Given the description of an element on the screen output the (x, y) to click on. 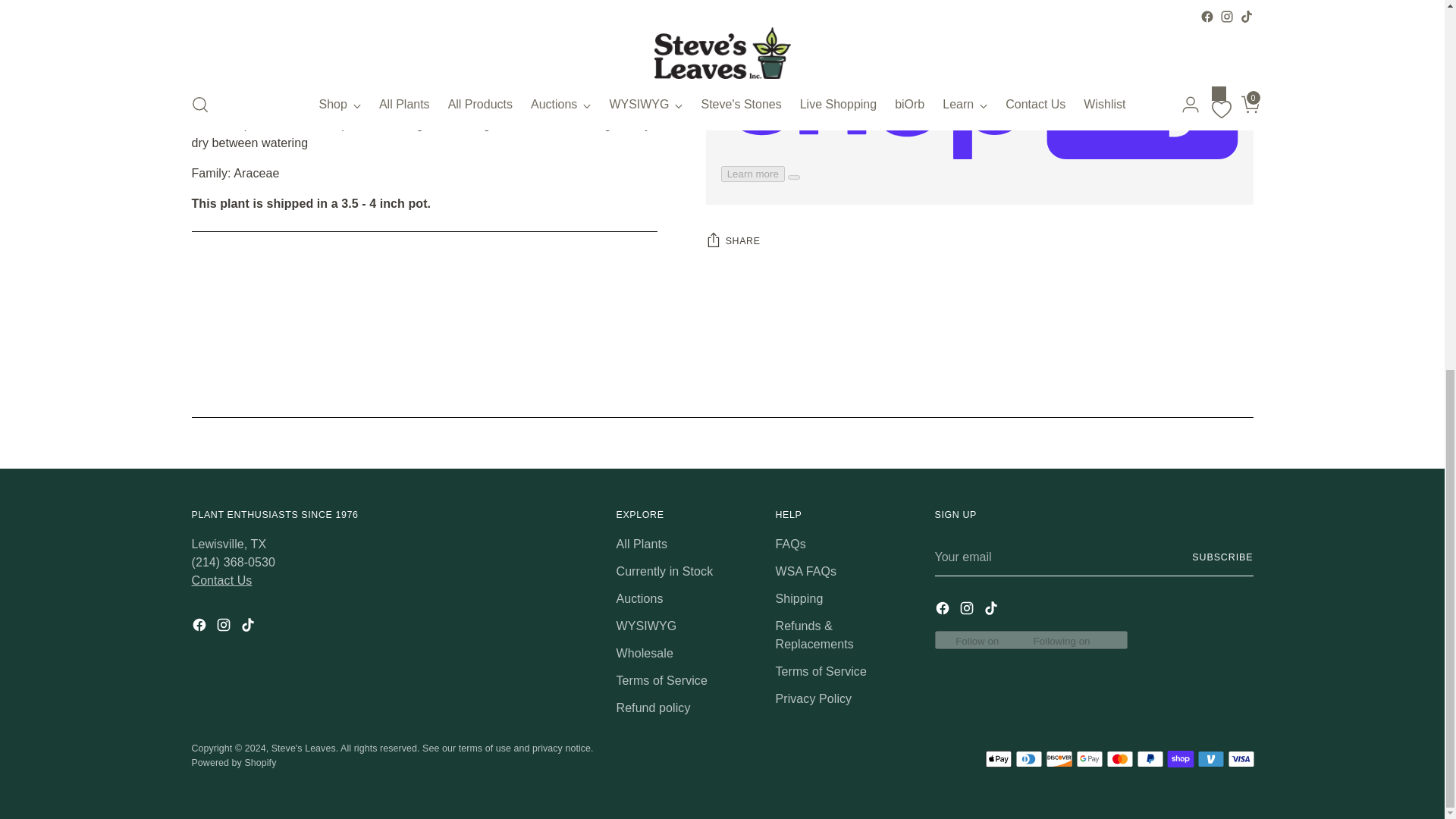
Steve's Leaves on Facebook (943, 610)
Steve's Leaves on Tiktok (248, 627)
Steve's Leaves on Instagram (223, 627)
Steve's Leaves on Instagram (967, 610)
Steve's Leaves on Facebook (199, 627)
Contact Us (220, 580)
